Given the description of an element on the screen output the (x, y) to click on. 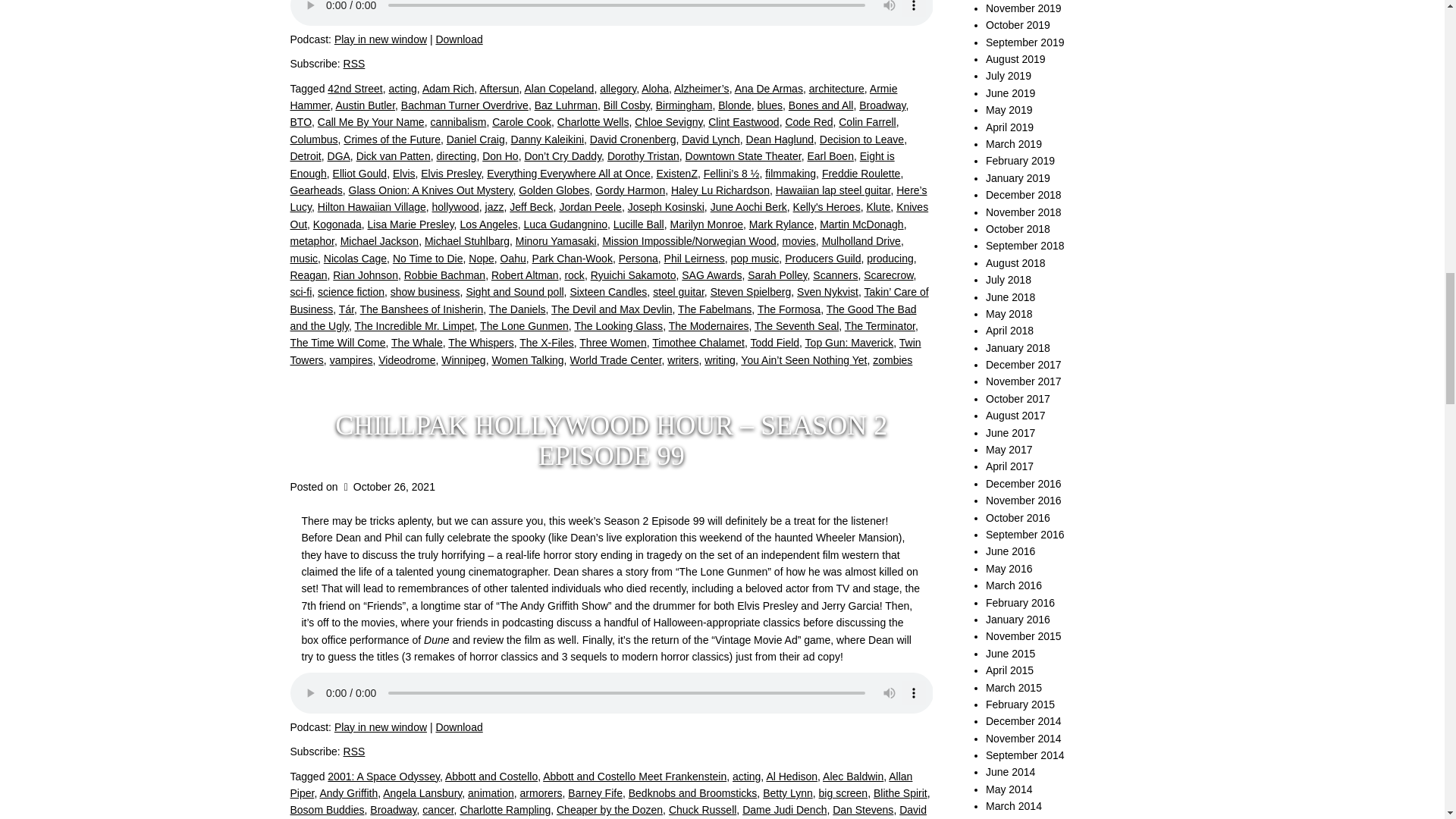
Subscribe via RSS (354, 751)
Download (458, 727)
Play in new window (380, 39)
Play in new window (380, 727)
Subscribe via RSS (354, 63)
Download (458, 39)
